Given the description of an element on the screen output the (x, y) to click on. 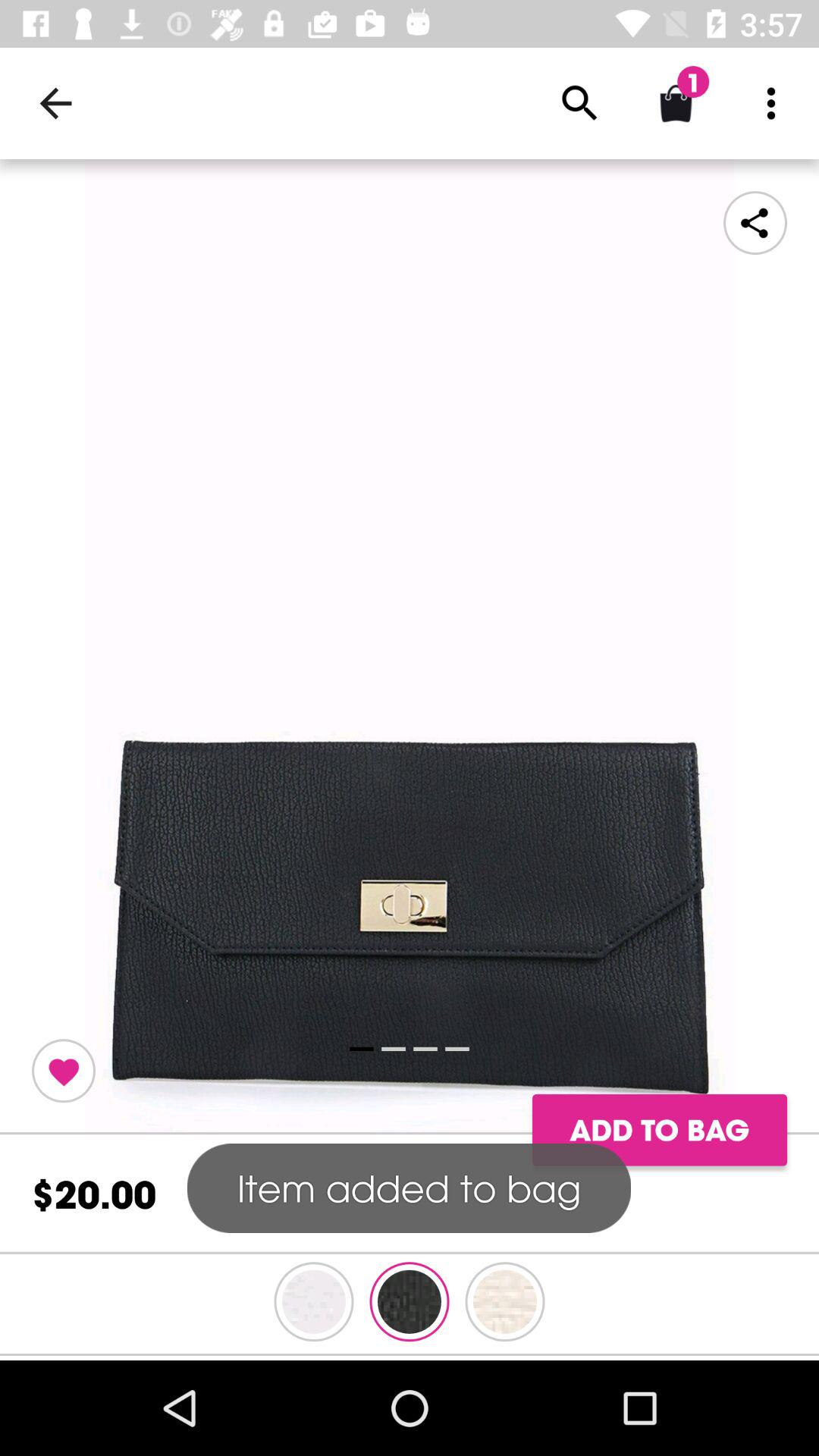
share the article (755, 222)
